Given the description of an element on the screen output the (x, y) to click on. 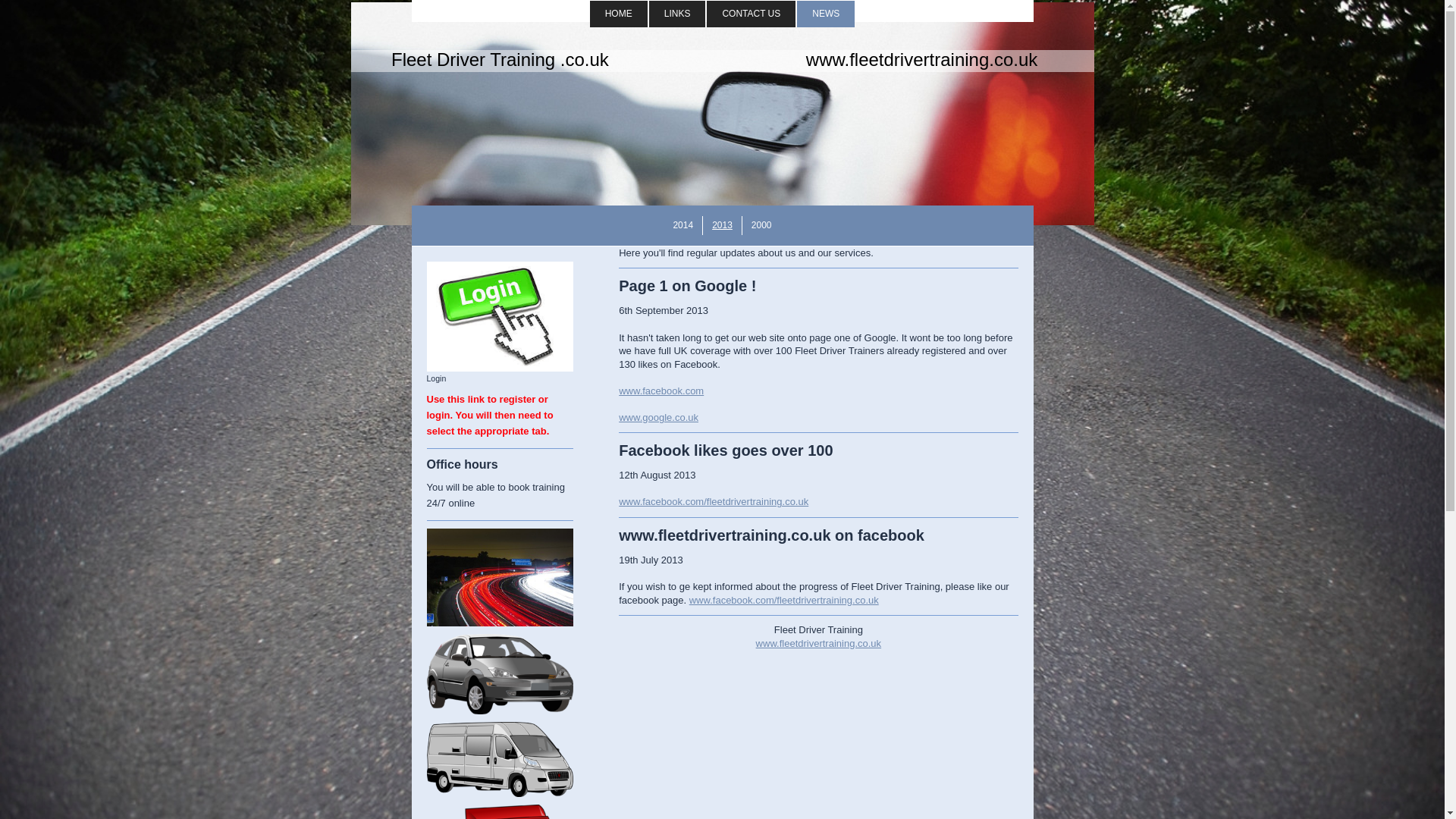
NEWS (825, 13)
www.google.co.uk (658, 417)
Login (499, 322)
HOME (618, 13)
2014 (682, 225)
www.fleetdrivertraining.co.uk (817, 643)
www.facebook.com (660, 390)
CONTACT US (750, 13)
2013 (721, 225)
LINKS (677, 13)
